Given the description of an element on the screen output the (x, y) to click on. 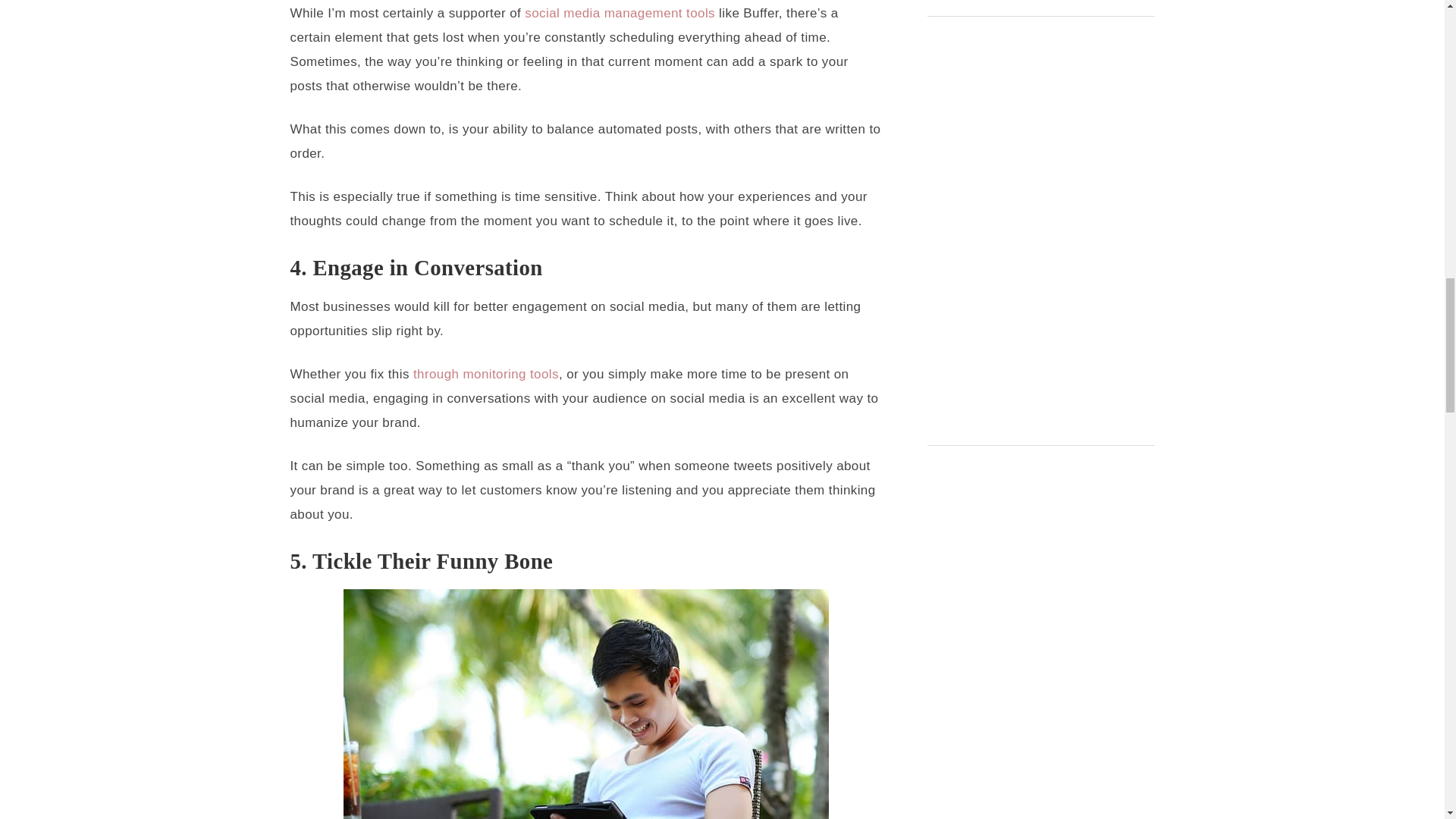
social media management tools (619, 12)
through monitoring tools (486, 373)
